Given the description of an element on the screen output the (x, y) to click on. 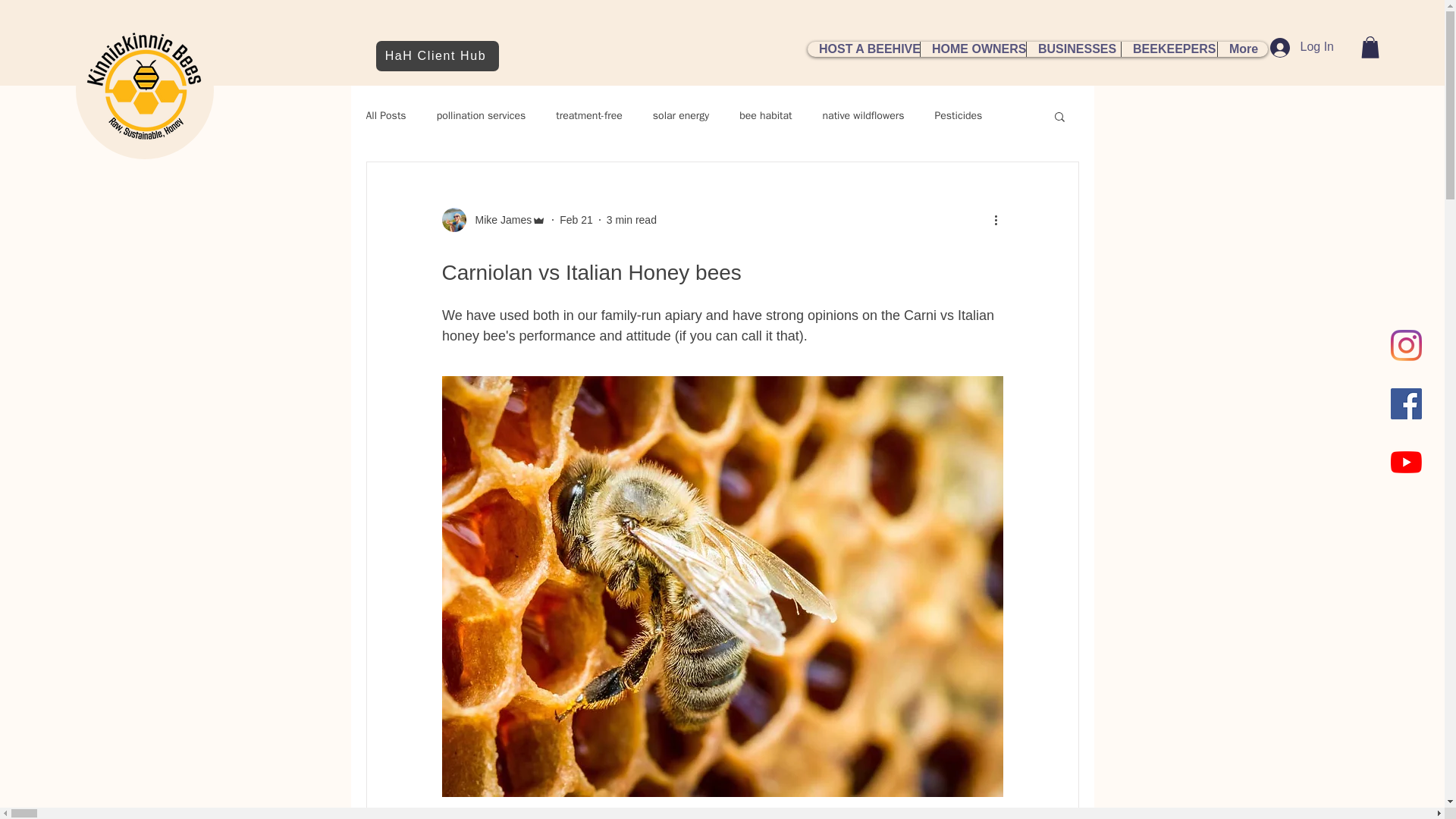
treatment-free (589, 115)
All Posts (385, 115)
pollination services (480, 115)
bee habitat (765, 115)
native wildflowers (863, 115)
Pesticides (957, 115)
3 min read (631, 219)
Log In (1301, 47)
HaH Client Hub (437, 55)
Mike James (498, 220)
Feb 21 (575, 219)
solar energy (680, 115)
